Given the description of an element on the screen output the (x, y) to click on. 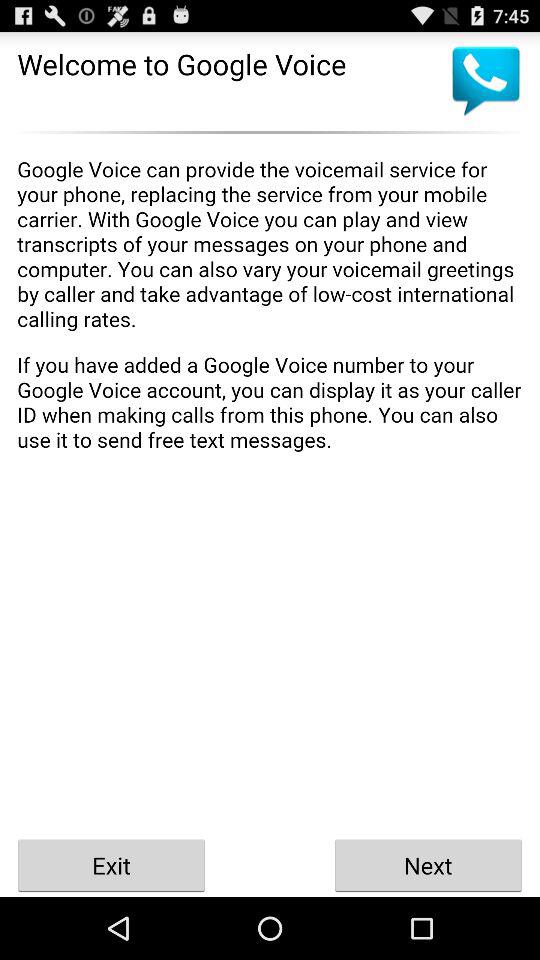
turn on next icon (427, 864)
